Given the description of an element on the screen output the (x, y) to click on. 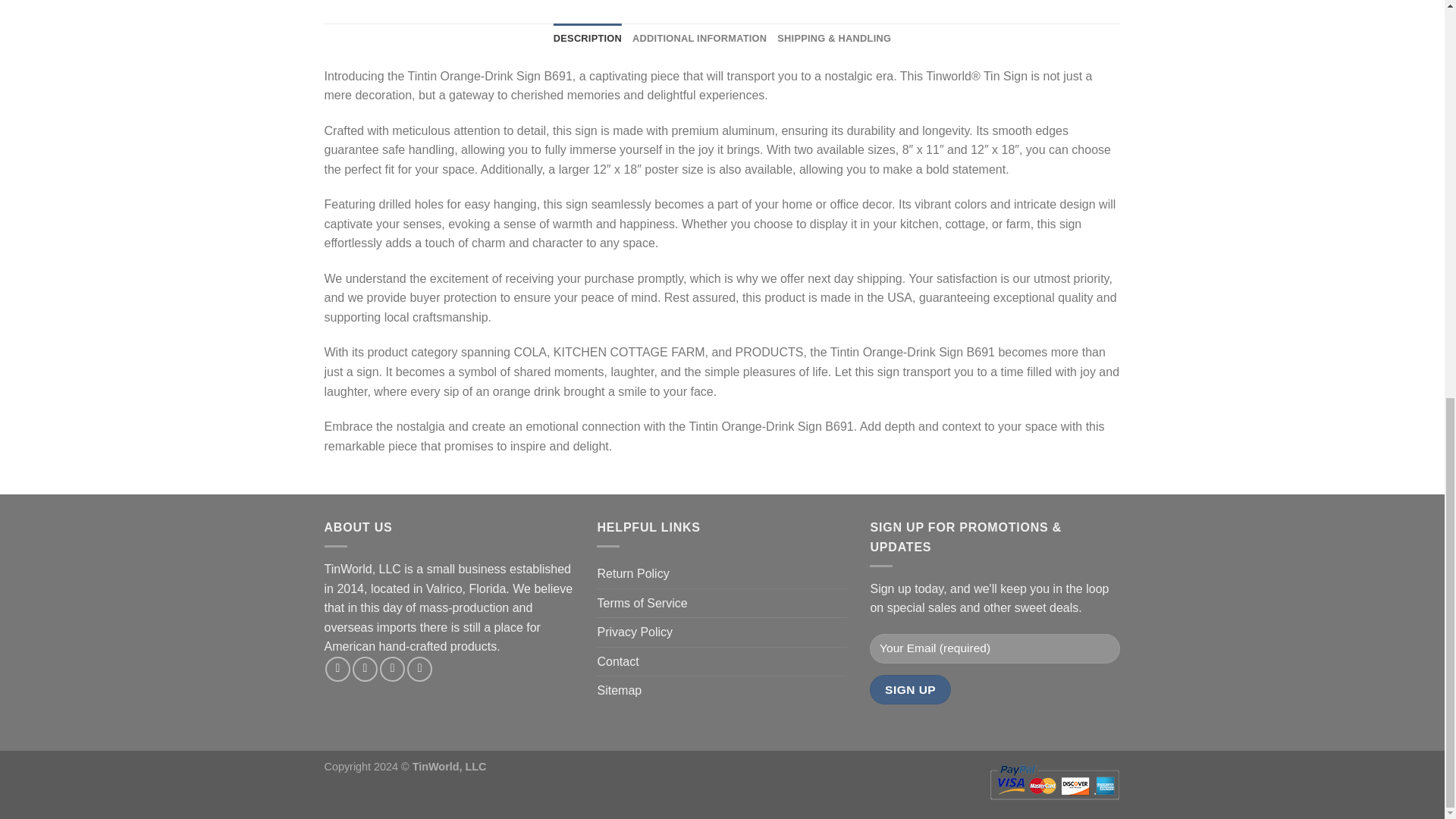
Sign Up (909, 689)
Send us an email (419, 668)
Follow on Instagram (364, 668)
Follow on Twitter (392, 668)
Follow on Facebook (337, 668)
